Given the description of an element on the screen output the (x, y) to click on. 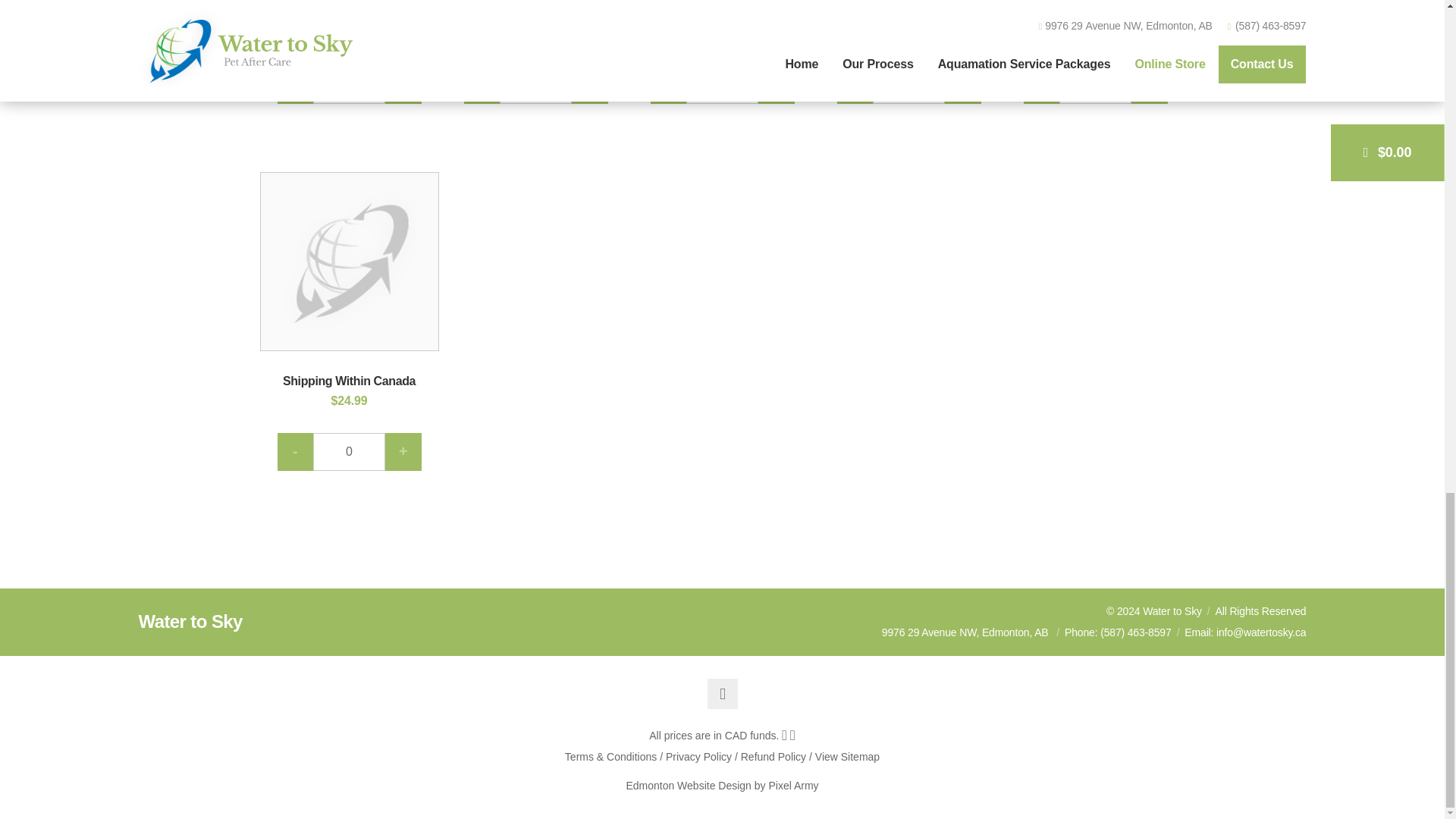
0 (349, 451)
0 (535, 85)
0 (908, 85)
0 (1095, 85)
0 (721, 85)
0 (349, 85)
